Given the description of an element on the screen output the (x, y) to click on. 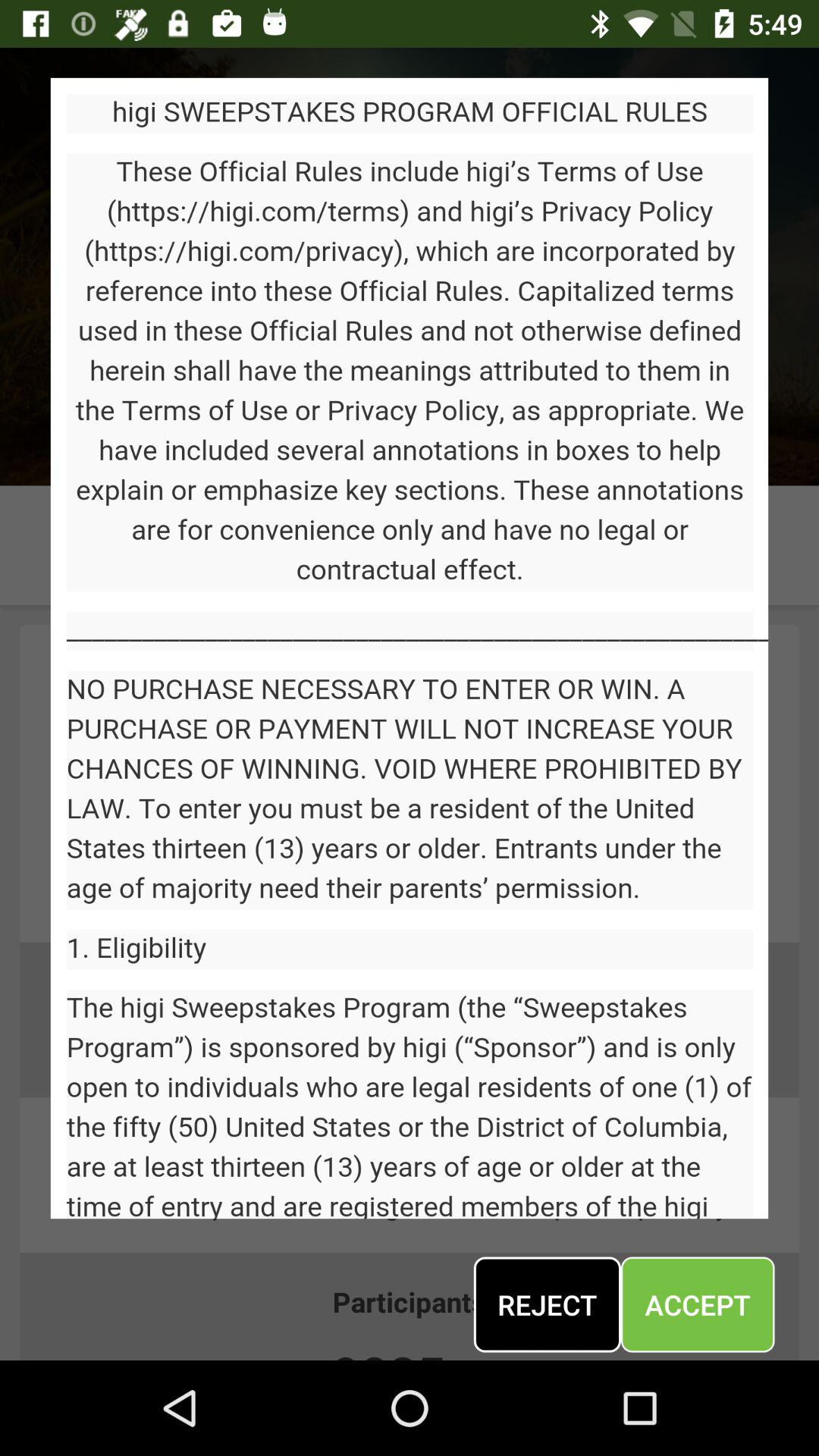
descrisption (409, 647)
